Given the description of an element on the screen output the (x, y) to click on. 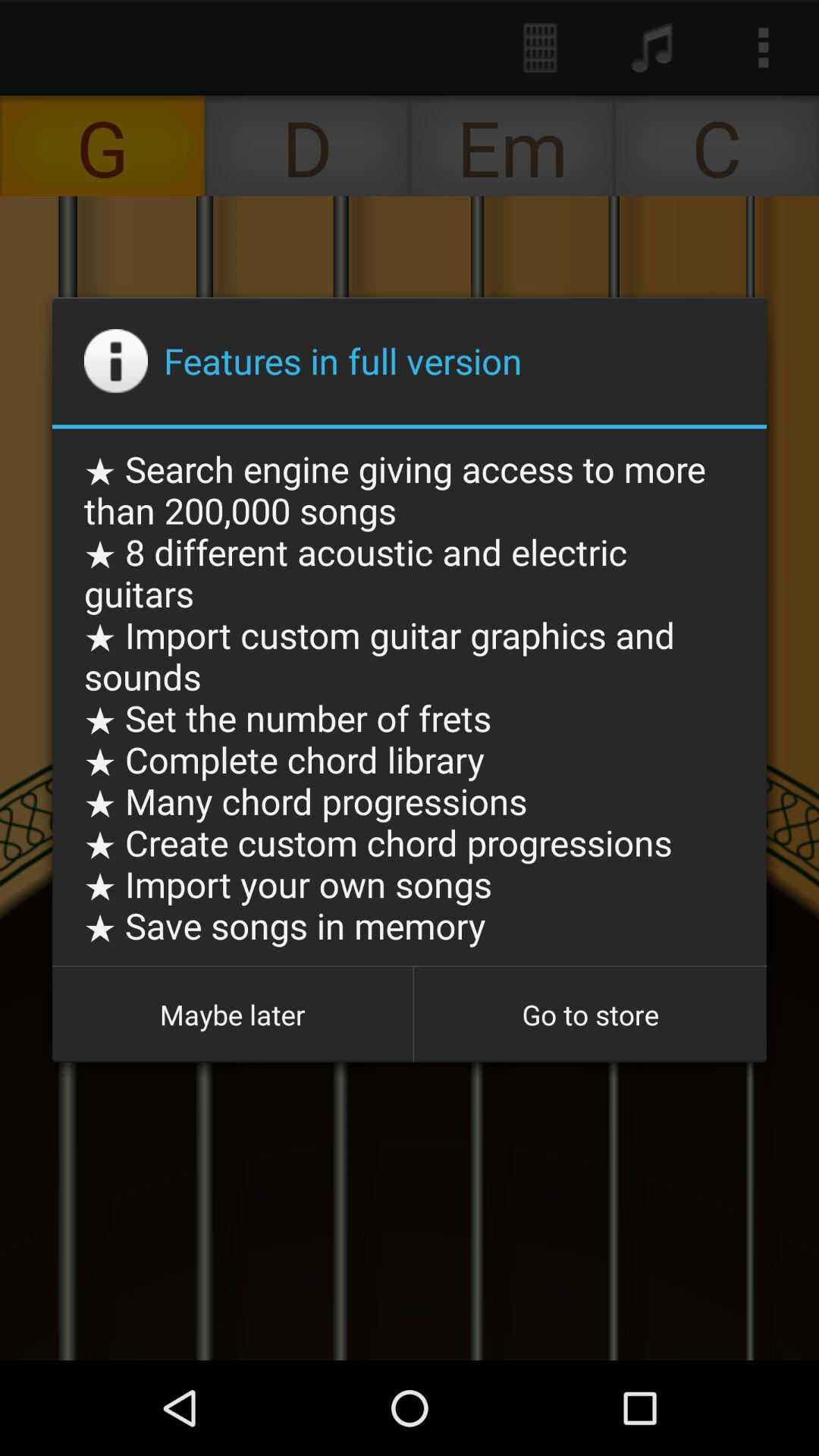
swipe to maybe later button (232, 1014)
